Given the description of an element on the screen output the (x, y) to click on. 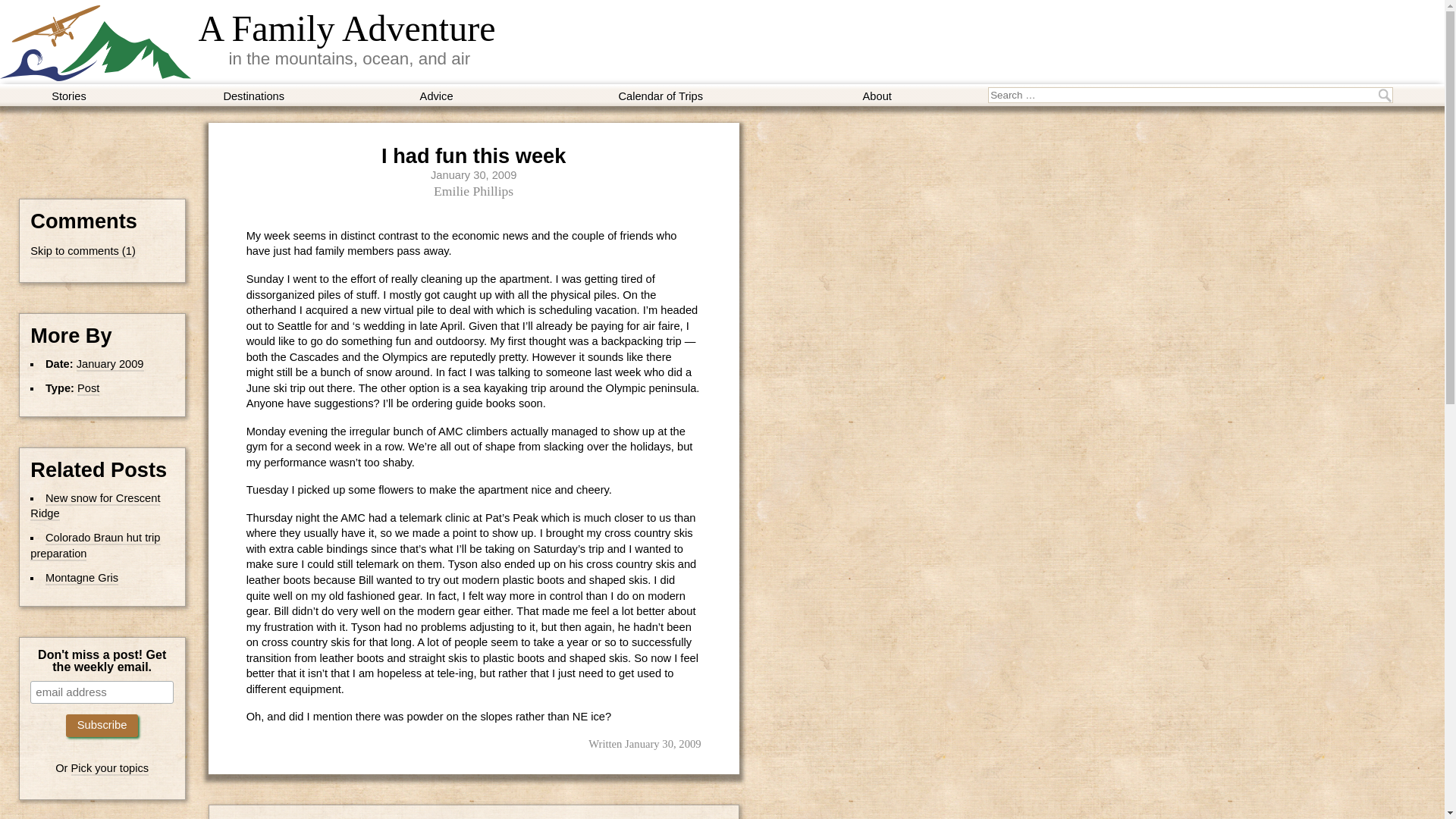
A Family Adventure (347, 28)
I had fun this week (473, 156)
Colorado Braun hut trip preparation (95, 546)
Destinations (253, 95)
January 2009 (110, 364)
Stories (69, 95)
Montagne Gris (81, 578)
Pick your topics (110, 768)
Subscribe (101, 725)
Advice (436, 95)
Calendar of Trips (660, 95)
About (877, 95)
Post (88, 388)
Subscribe (101, 725)
New snow for Crescent Ridge (95, 505)
